Given the description of an element on the screen output the (x, y) to click on. 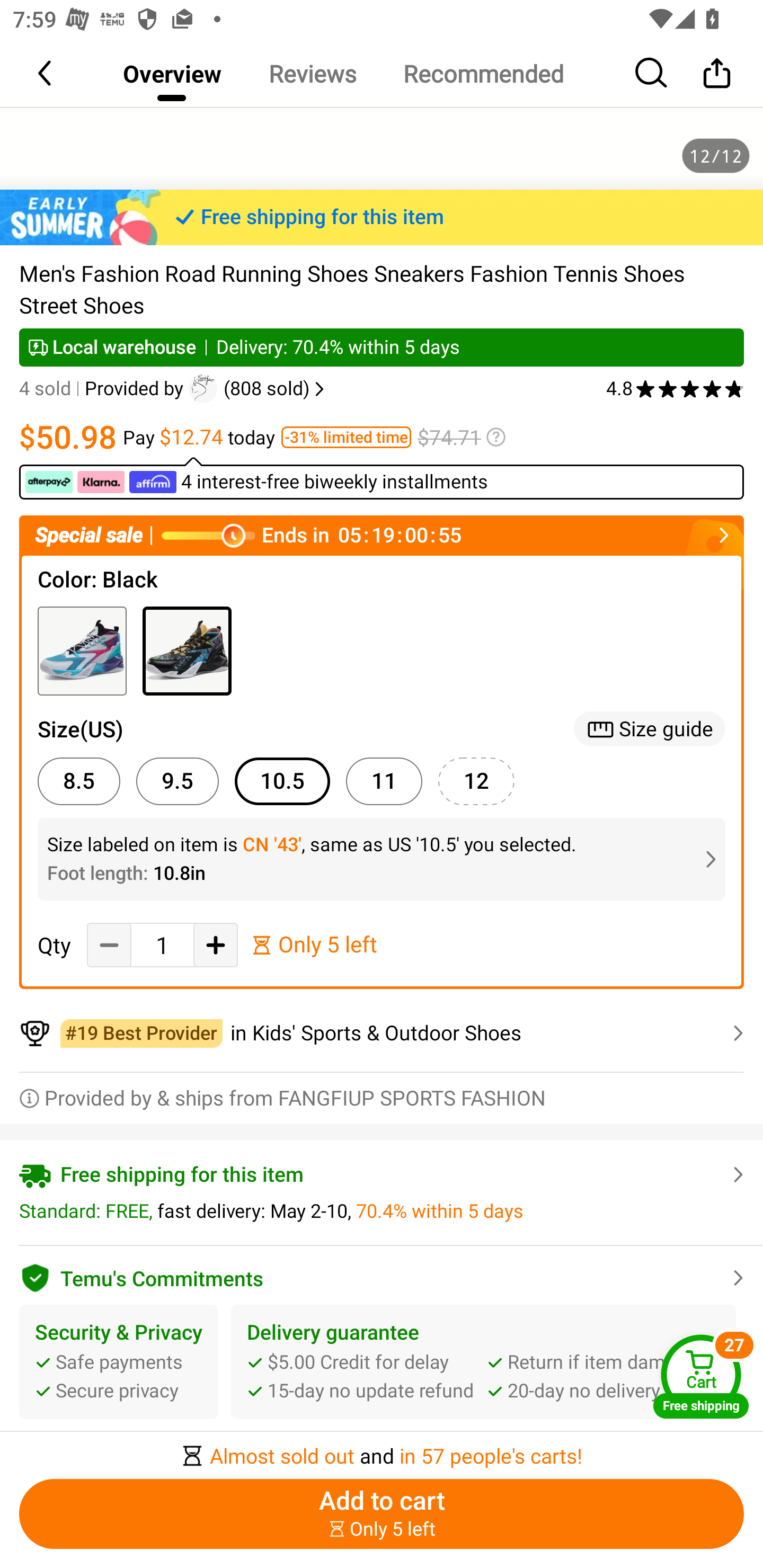
Overview (171, 72)
Reviews (311, 72)
Recommended (482, 72)
Back (46, 72)
Share (716, 72)
Free shipping for this item (381, 216)
Local warehouse Delivery: 70.4% within 5 days (381, 346)
4 sold Provided by  (103, 388)
4.8 (674, 388)
￼ ￼ ￼ 4 interest-free biweekly installments (381, 478)
Special sale Ends in￼￼ (381, 535)
White Blue (81, 651)
Black (186, 651)
 Size guide (649, 728)
8.5 (78, 781)
9.5 (176, 781)
10.5 (282, 781)
11 (383, 781)
12 (475, 781)
Decrease Quantity Button (108, 945)
Add Quantity button (215, 945)
1 (162, 945)
￼￼in Kids' Sports & Outdoor Shoes (381, 1032)
Temu's Commitments (381, 1275)
Security & Privacy Safe payments Secure privacy (118, 1361)
Cart Free shipping Cart (701, 1375)
￼￼Almost sold out and in 57 people's carts! (381, 1450)
Add to cart ￼￼Only 5 left (381, 1513)
